Given the description of an element on the screen output the (x, y) to click on. 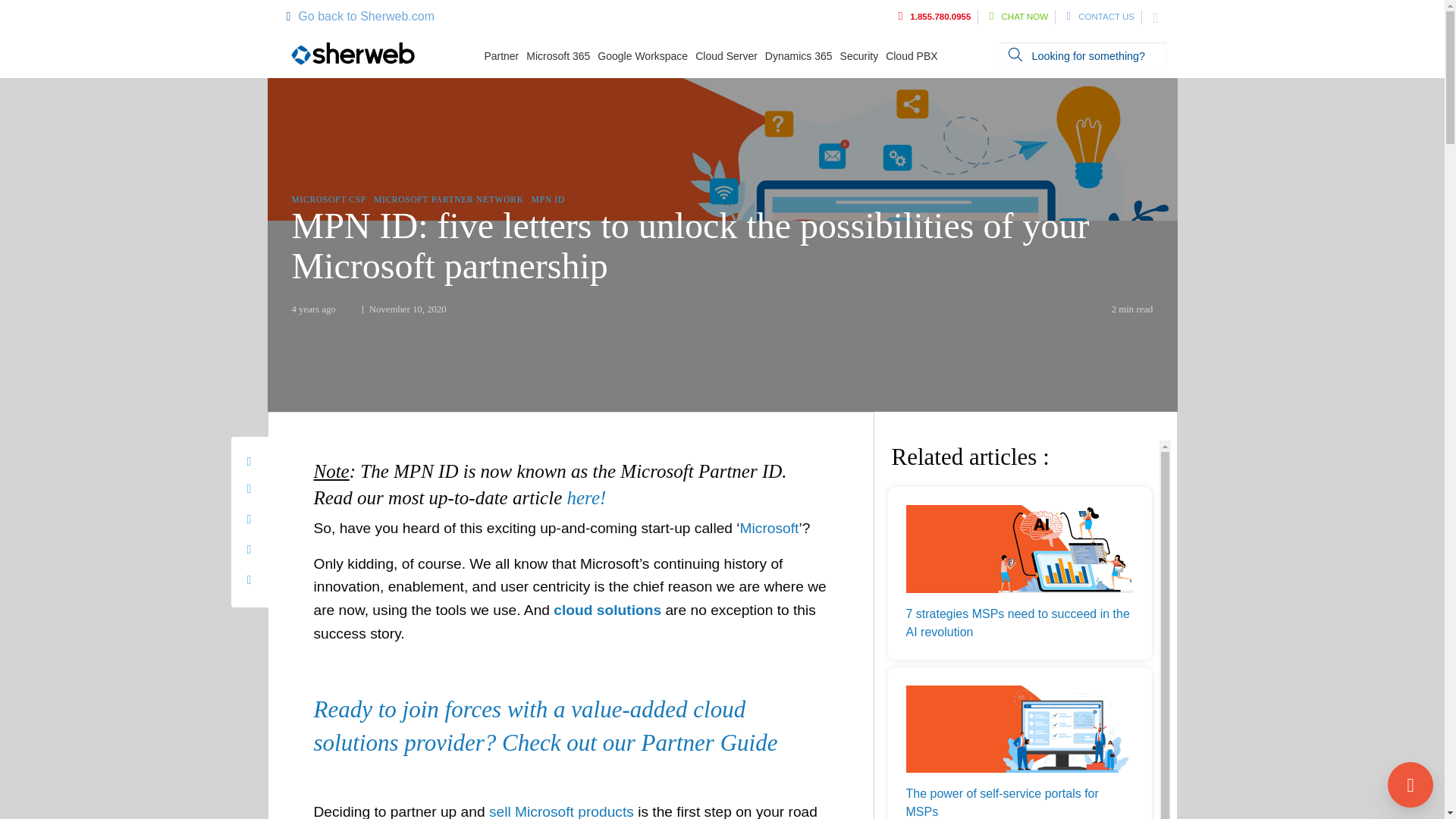
MICROSOFT PARTNER NETWORK (449, 198)
MPN ID (547, 198)
cloud solutions (607, 609)
Search (1014, 54)
here! (585, 497)
Security (863, 55)
Search for: (1082, 56)
Search (1014, 54)
Go back to Sherweb.com (359, 16)
Cloud Server (730, 55)
